Given the description of an element on the screen output the (x, y) to click on. 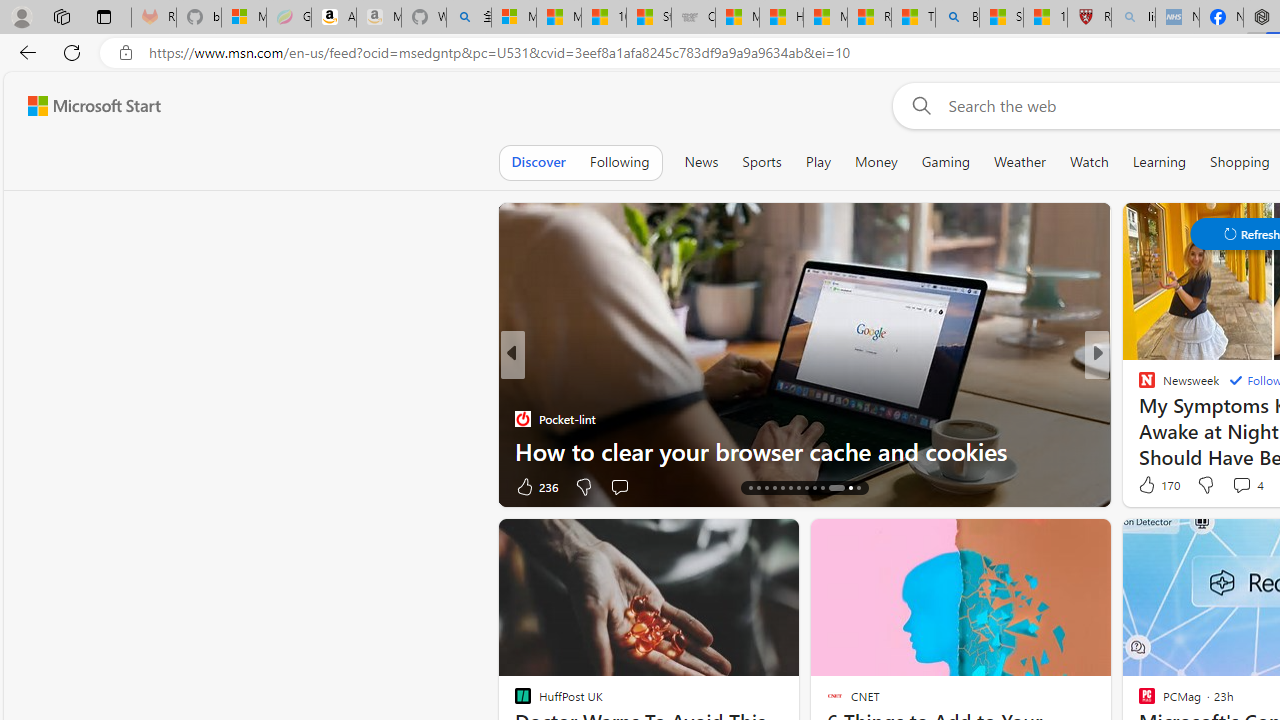
Hide this story (1169, 542)
How to clear your browser cache and cookies (804, 450)
236 Like (535, 486)
You're following FOX News (445, 490)
TODAY (1138, 386)
AutomationID: tab-20 (797, 487)
